Given the description of an element on the screen output the (x, y) to click on. 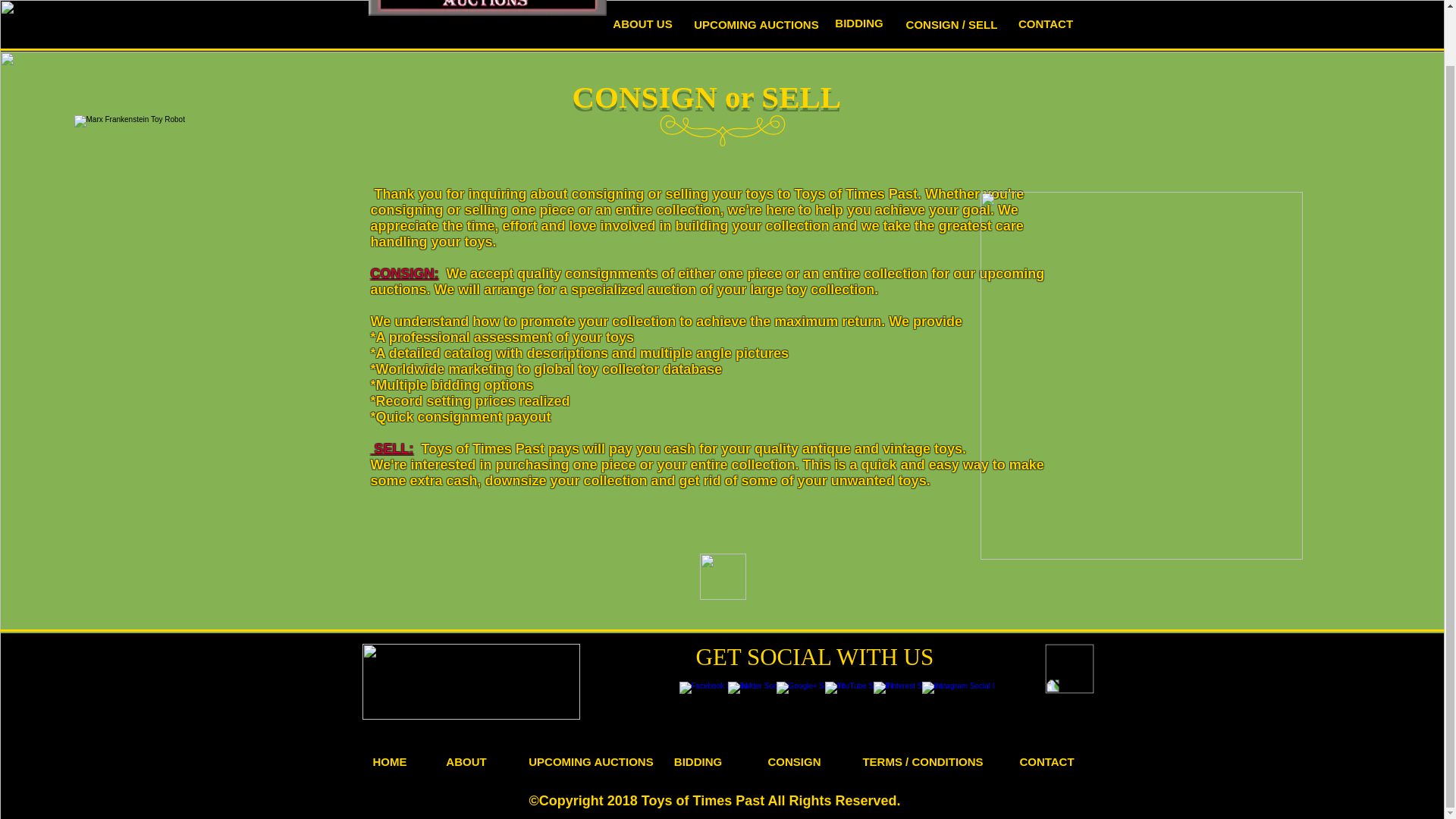
ABOUT (466, 761)
UPCOMING AUCTIONS (591, 761)
CONSIGN (794, 761)
UPCOMING AUCTIONS (757, 24)
BIDDING (859, 22)
BIDDING (698, 761)
CONTACT (1046, 761)
HOME (389, 761)
CONTACT (1045, 23)
ABOUT US (643, 23)
